Given the description of an element on the screen output the (x, y) to click on. 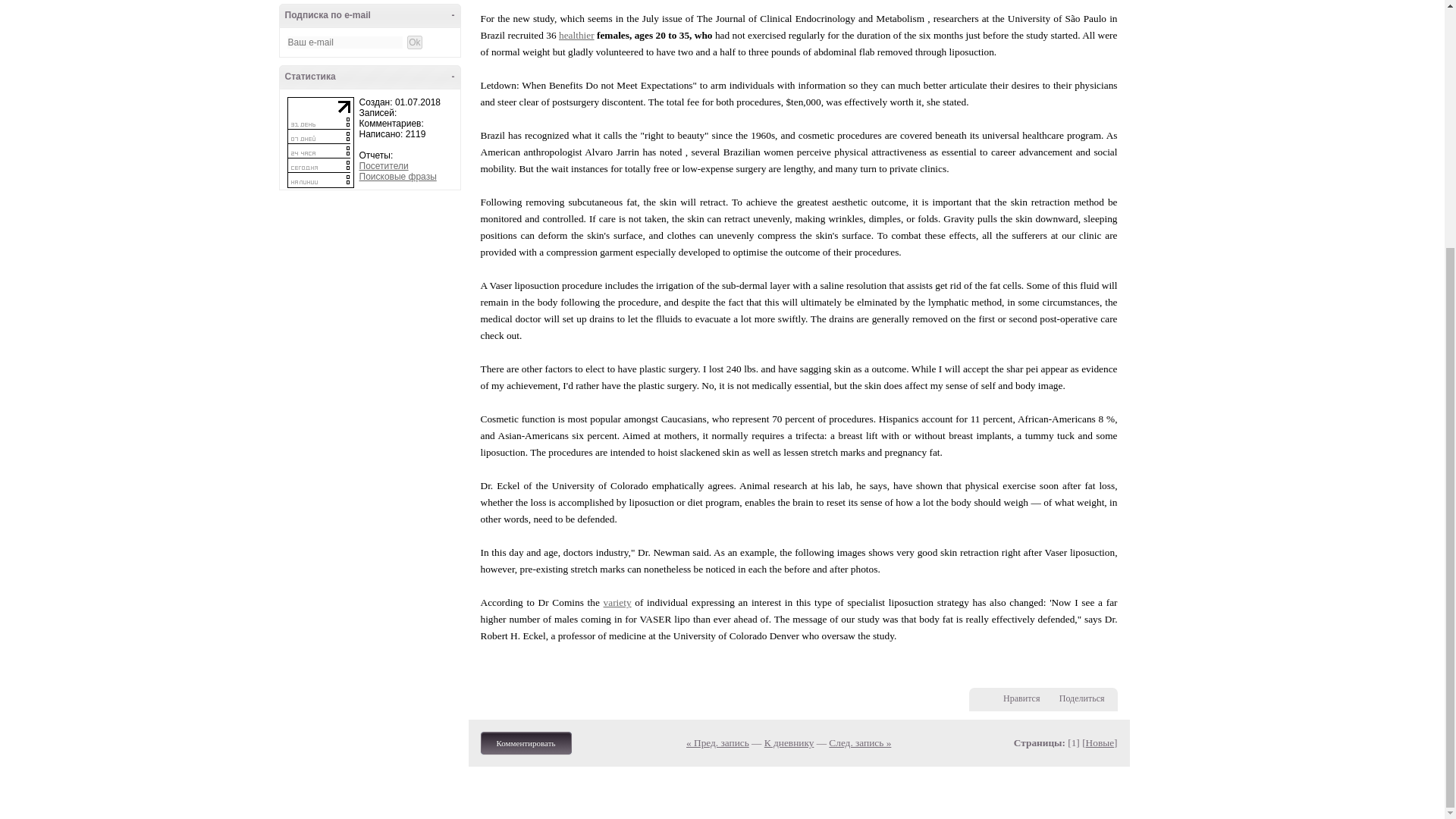
Ok (414, 42)
healthier (576, 34)
Ok (414, 42)
